Given the description of an element on the screen output the (x, y) to click on. 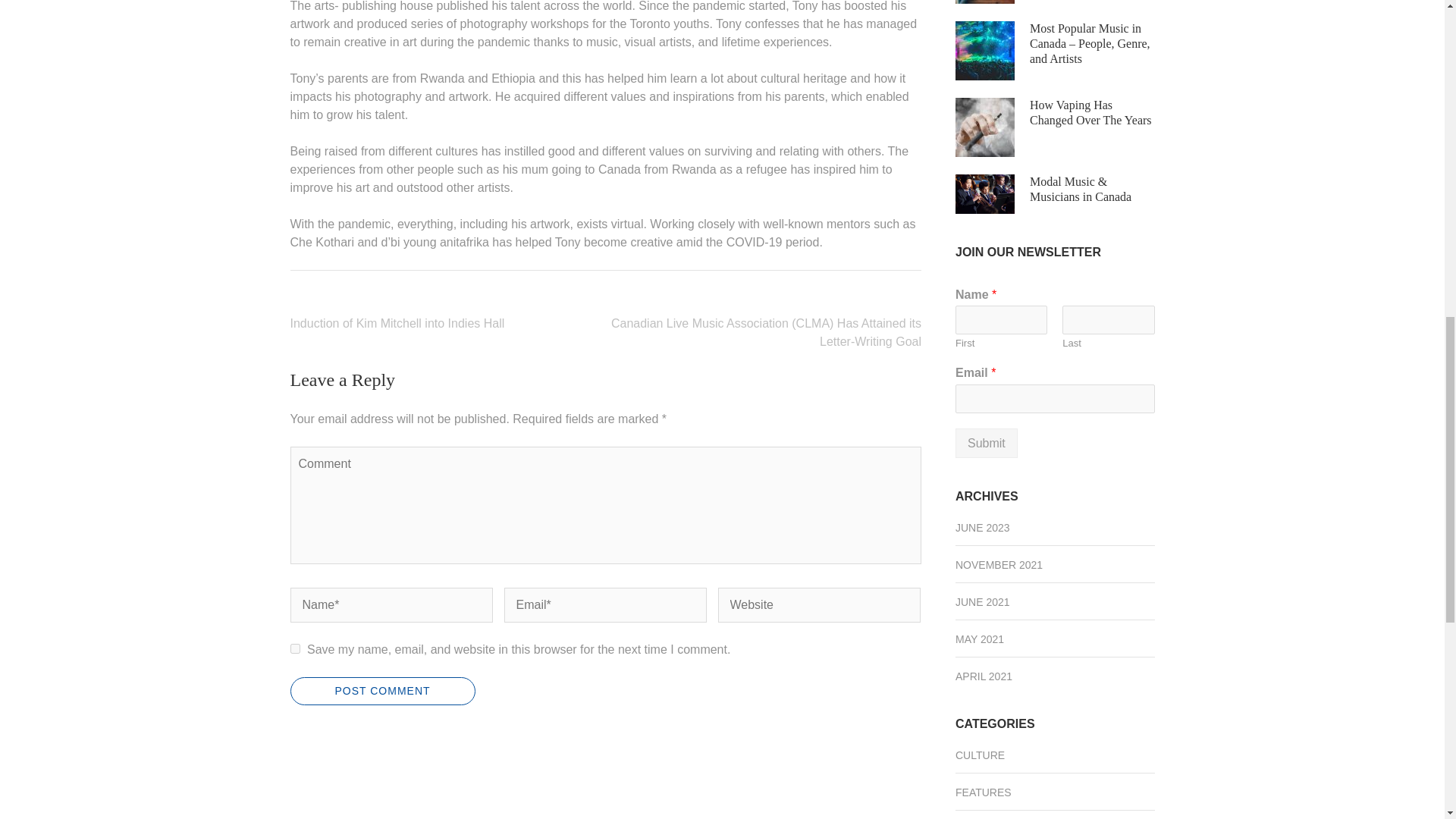
yes (294, 648)
Post Comment (381, 691)
Post Comment (381, 691)
Induction of Kim Mitchell into Indies Hall (396, 323)
